Given the description of an element on the screen output the (x, y) to click on. 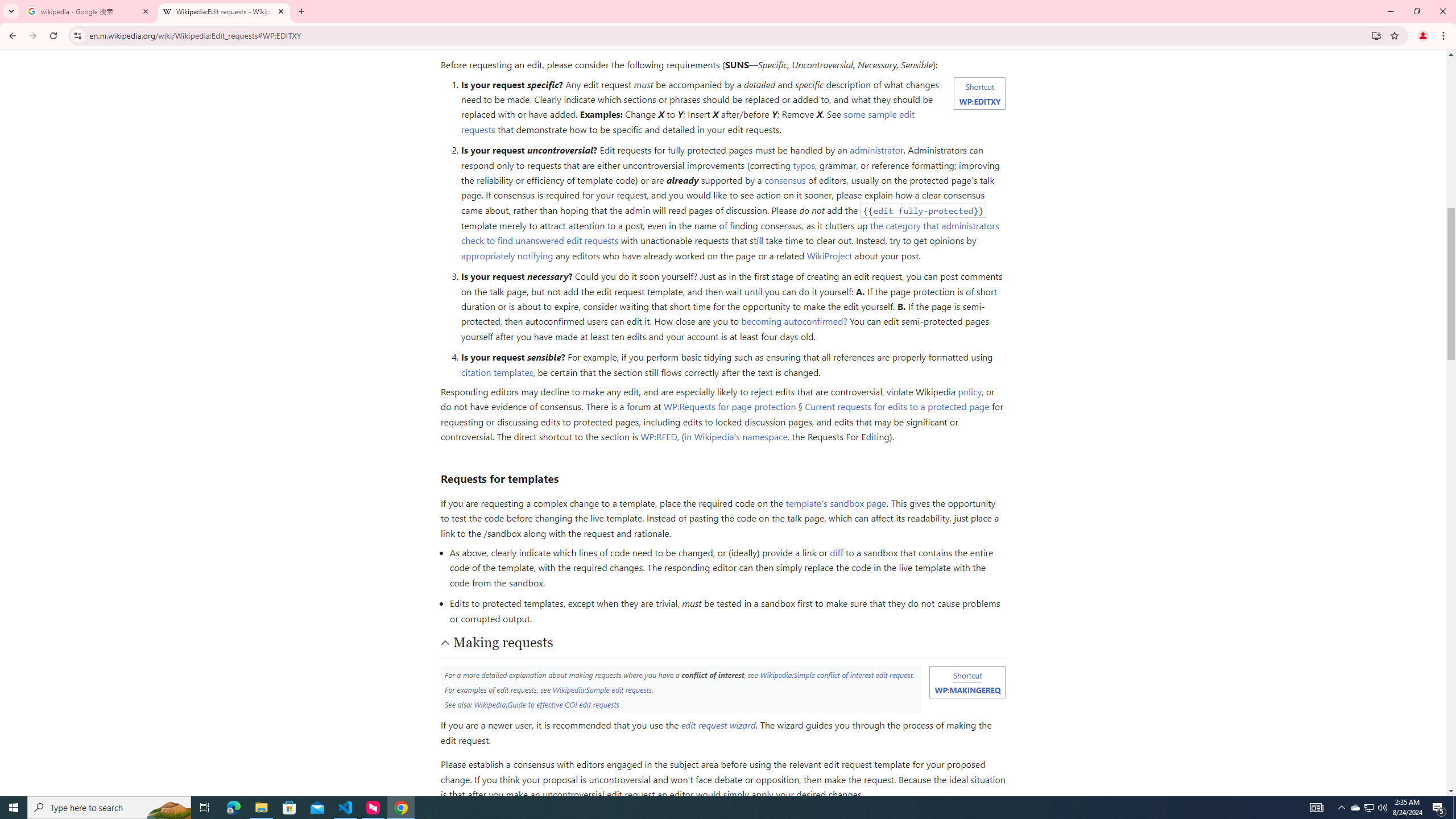
edit request wizard (718, 725)
WP:RFED (658, 436)
Wikipedia:Edit requests - Wikipedia (224, 11)
WP:MAKINGEREQ (967, 689)
appropriately notifying (506, 254)
